Given the description of an element on the screen output the (x, y) to click on. 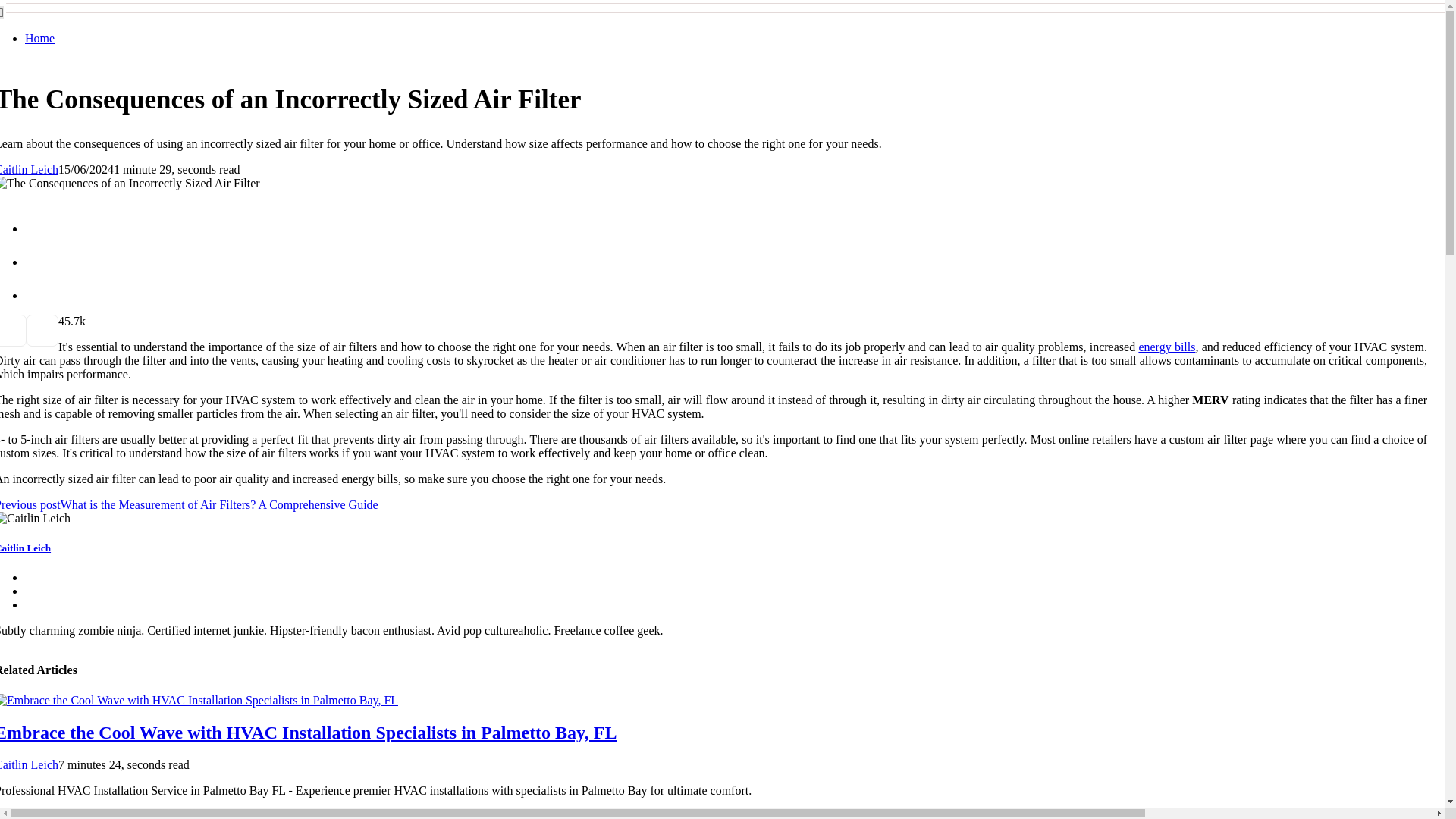
Posts by Caitlin Leich (29, 169)
Caitlin Leich (25, 547)
Posts by Caitlin Leich (29, 764)
Caitlin Leich (29, 764)
energy bills (1166, 346)
Caitlin Leich (29, 169)
Home (39, 38)
